Given the description of an element on the screen output the (x, y) to click on. 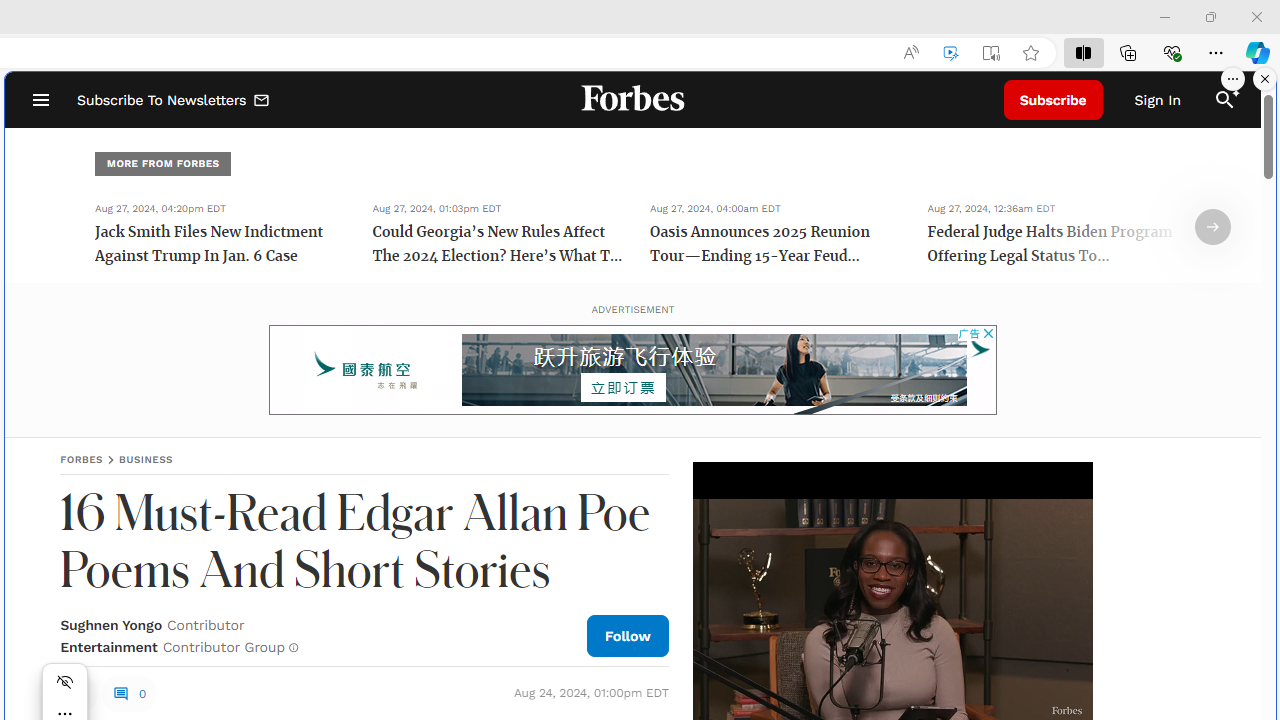
Entertainment (108, 646)
Forbes Logo (632, 99)
Class: sElHJWe4 (79, 692)
Sughnen Yongo (111, 623)
Arrow Right (1213, 227)
Sign In (1157, 100)
0 (128, 693)
BUSINESS (145, 459)
Class: fs-icon fs-icon--info (293, 647)
